Given the description of an element on the screen output the (x, y) to click on. 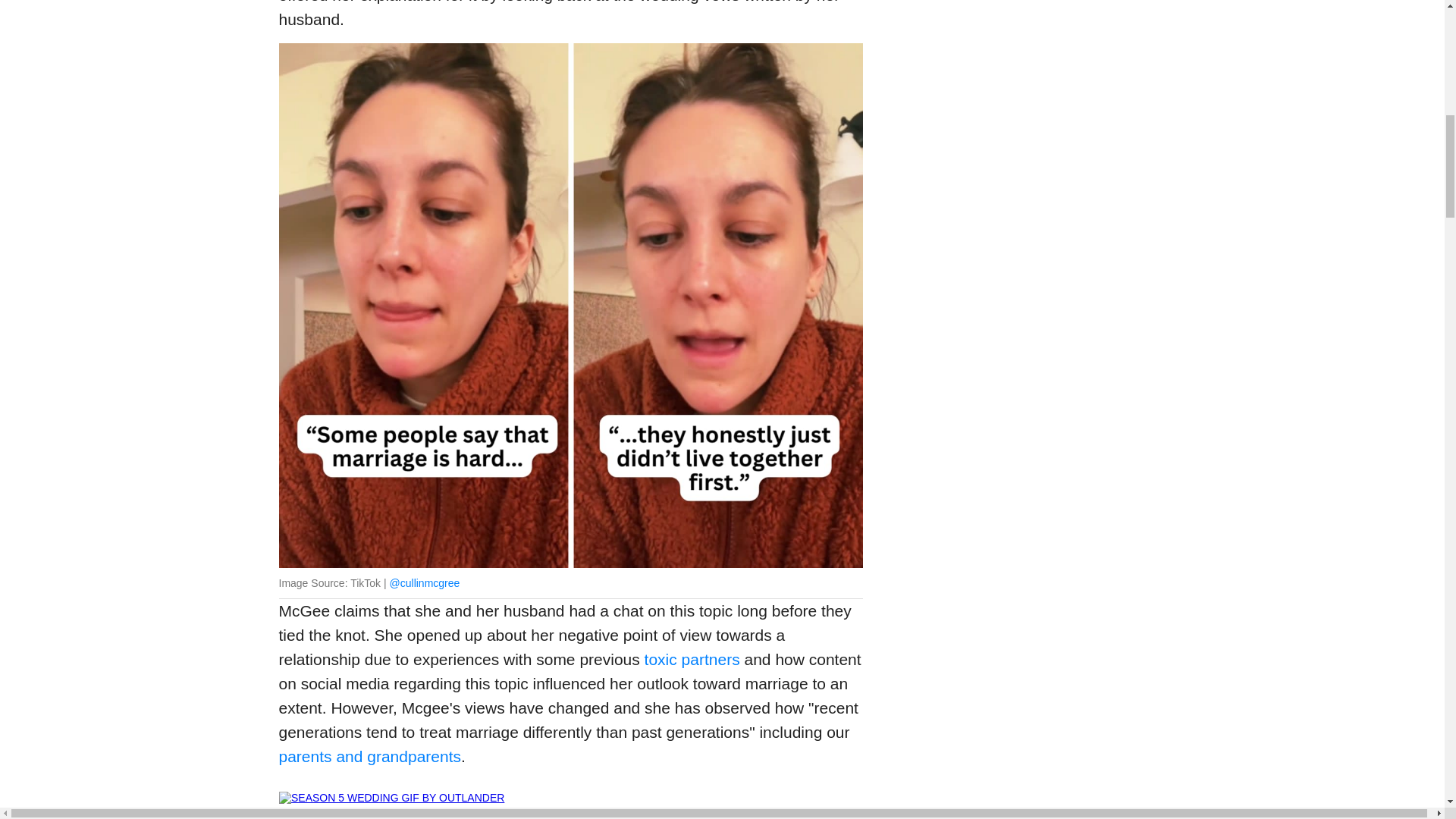
parents and grandparents (370, 755)
toxic partners (692, 659)
